Given the description of an element on the screen output the (x, y) to click on. 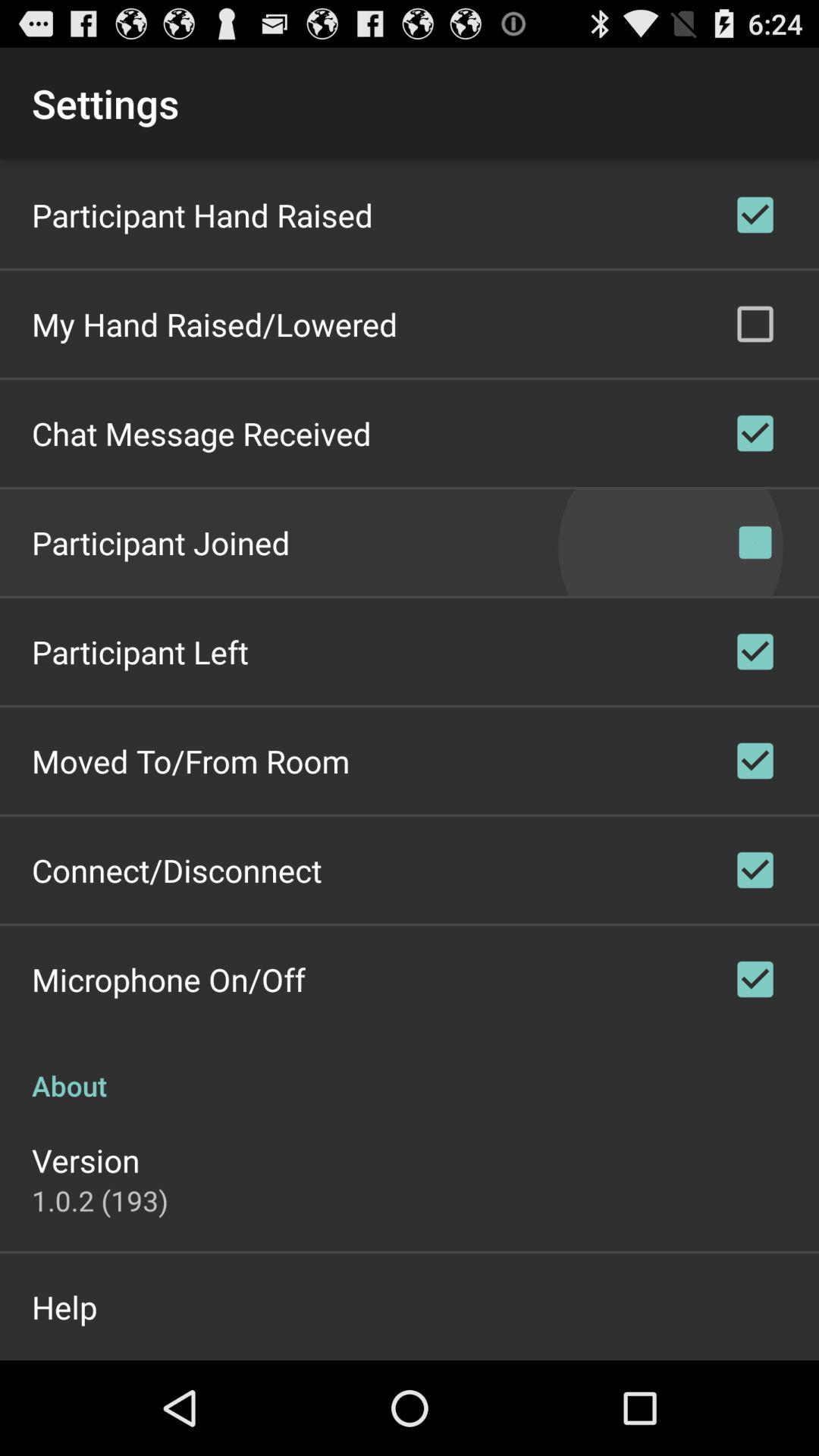
open app below participant joined icon (139, 651)
